Given the description of an element on the screen output the (x, y) to click on. 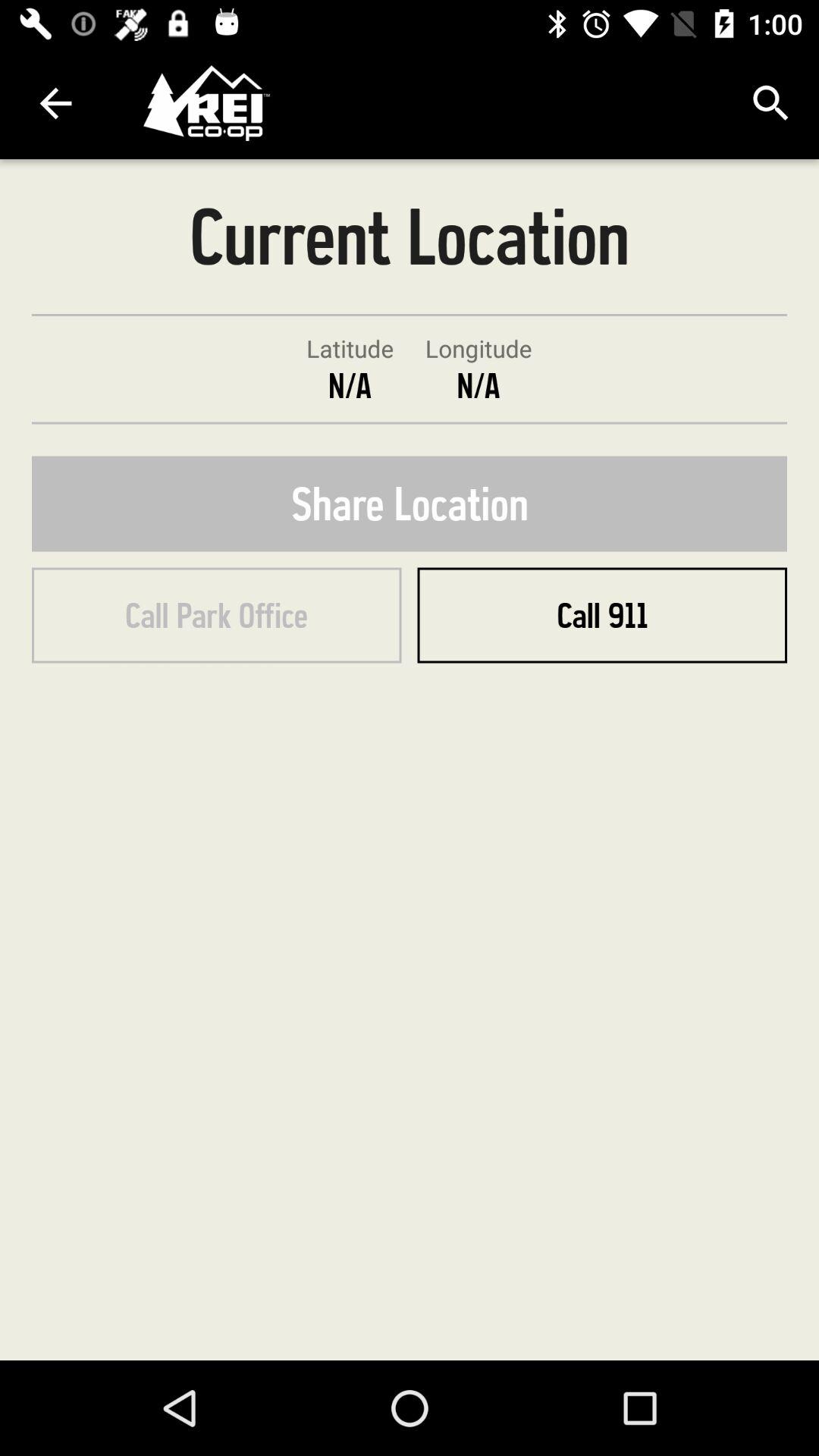
launch icon below the share location icon (216, 615)
